Given the description of an element on the screen output the (x, y) to click on. 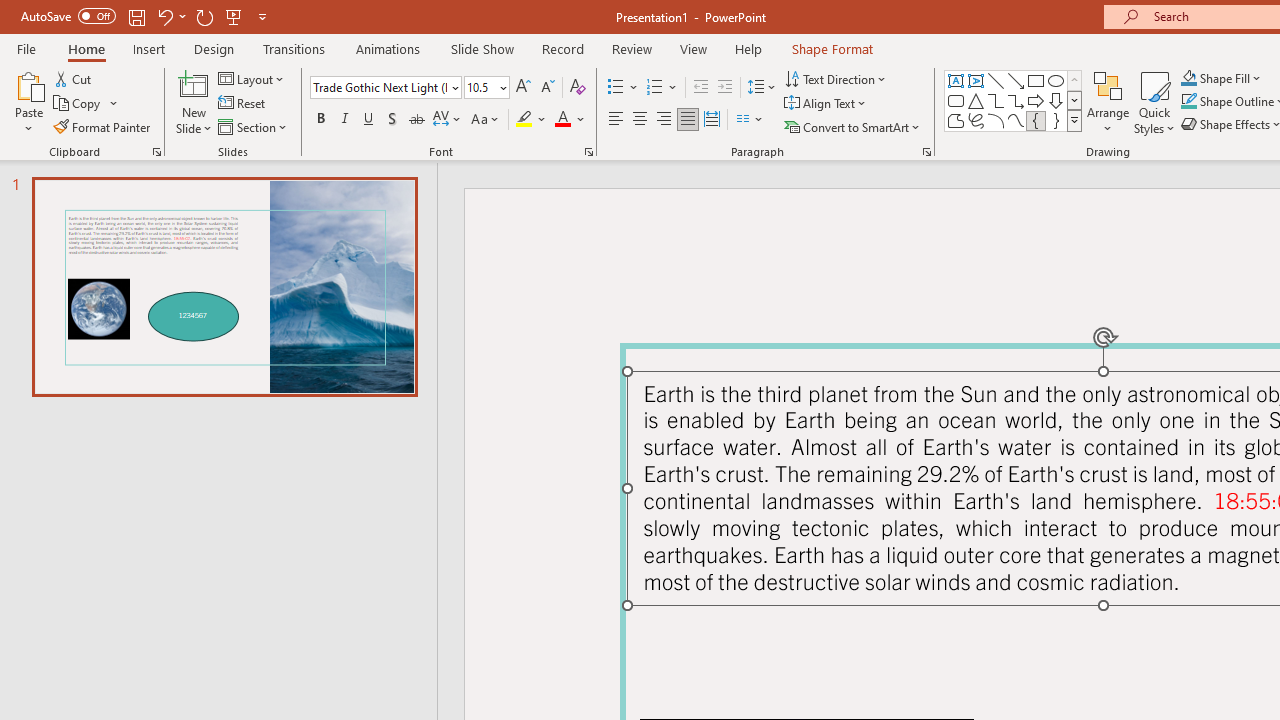
Font Size (486, 87)
Bullets (623, 87)
Line Spacing (762, 87)
Paragraph... (926, 151)
Italic (344, 119)
Rectangle (1035, 80)
Connector: Elbow Arrow (1016, 100)
Justify (687, 119)
Line Arrow (1016, 80)
Paste (28, 102)
Left Brace (1035, 120)
Copy (85, 103)
